Given the description of an element on the screen output the (x, y) to click on. 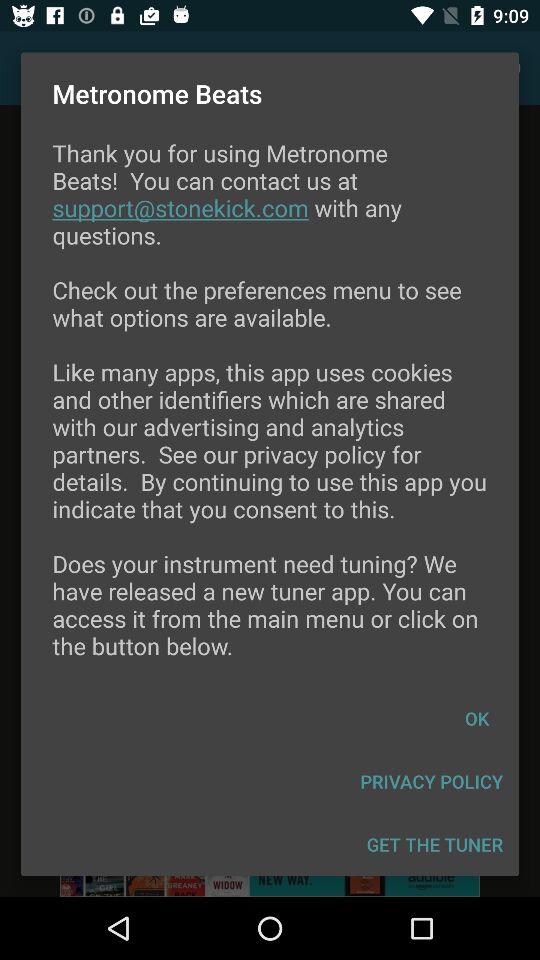
choose item below the ok icon (431, 781)
